Given the description of an element on the screen output the (x, y) to click on. 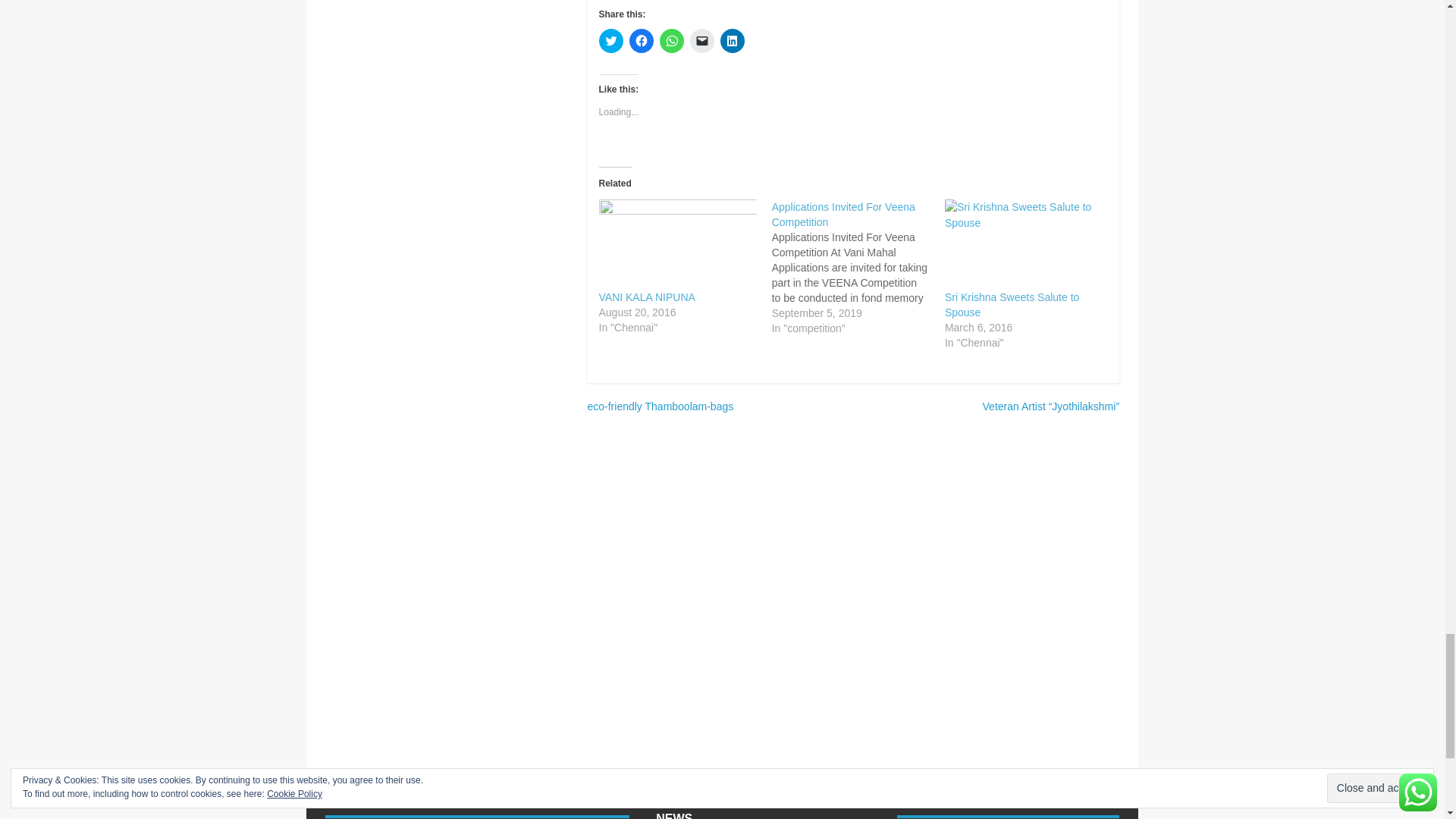
Applications Invited For Veena Competition (843, 214)
Applications Invited For Veena Competition (857, 267)
Click to share on Facebook (640, 40)
Sri Krishna Sweets Salute to Spouse (1011, 304)
VANI KALA NIPUNA (646, 297)
Sri Krishna Sweets Salute to Spouse (1023, 244)
Click to email a link to a friend (702, 40)
Click to share on WhatsApp (671, 40)
Click to share on LinkedIn (732, 40)
VANI KALA NIPUNA (677, 244)
Click to share on Twitter (610, 40)
